Given the description of an element on the screen output the (x, y) to click on. 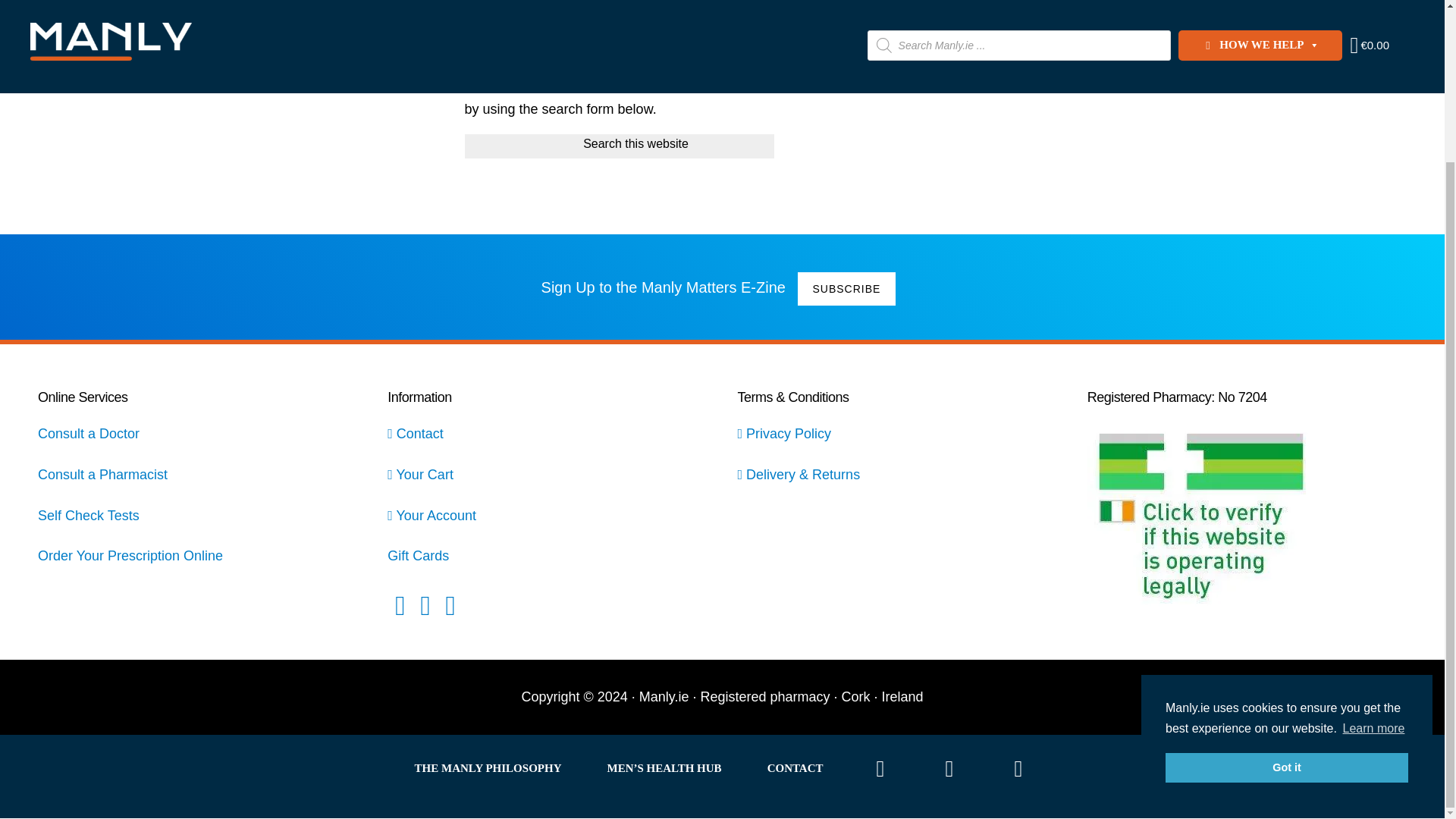
Got it (1286, 576)
Learn more (1372, 537)
